Given the description of an element on the screen output the (x, y) to click on. 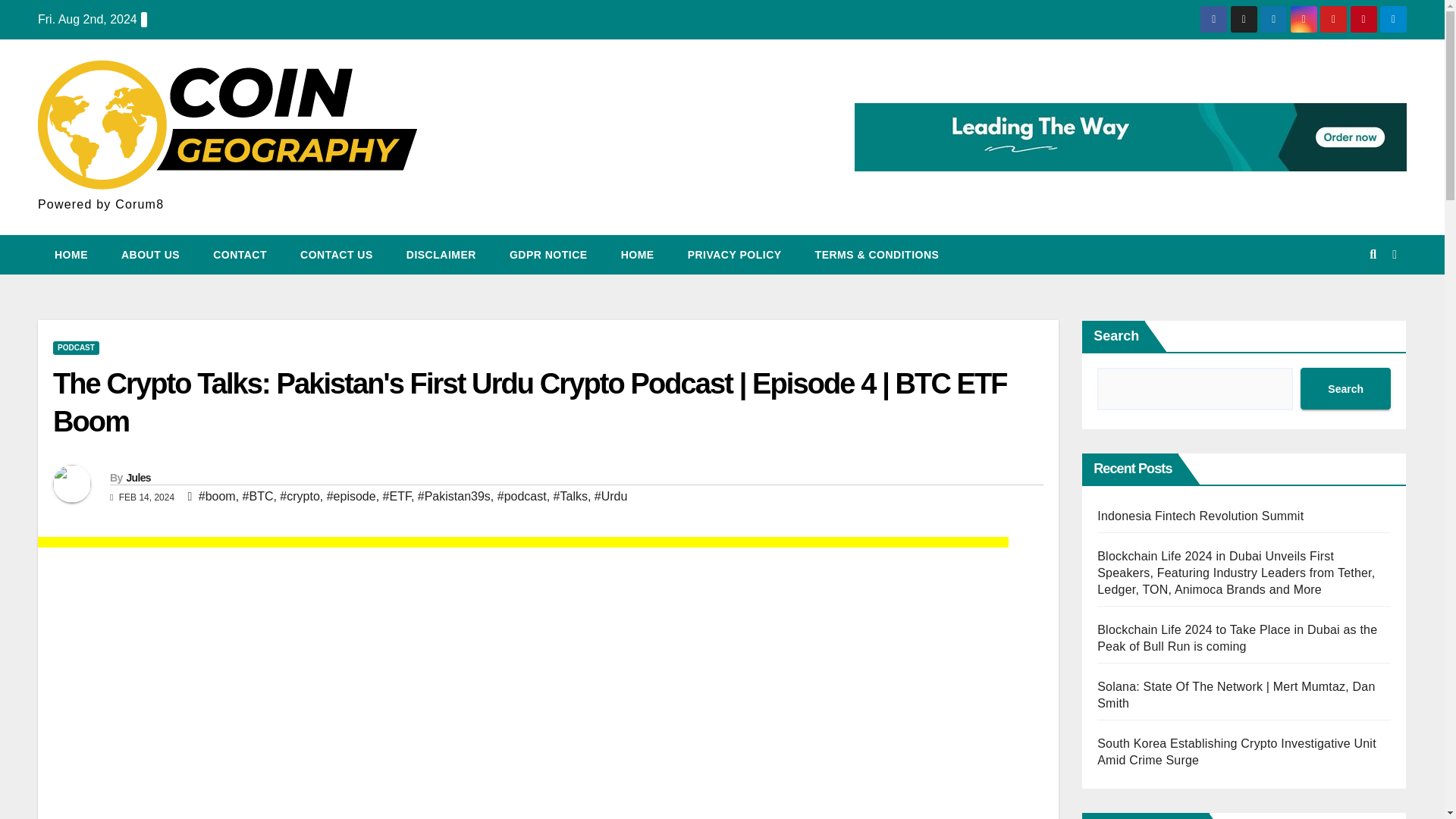
Jules (137, 477)
CONTACT (239, 254)
Home (70, 254)
CONTACT US (336, 254)
HOME (637, 254)
DISCLAIMER (441, 254)
HOME (70, 254)
PODCAST (75, 347)
ABOUT US (150, 254)
PRIVACY POLICY (734, 254)
GDPR NOTICE (548, 254)
